Given the description of an element on the screen output the (x, y) to click on. 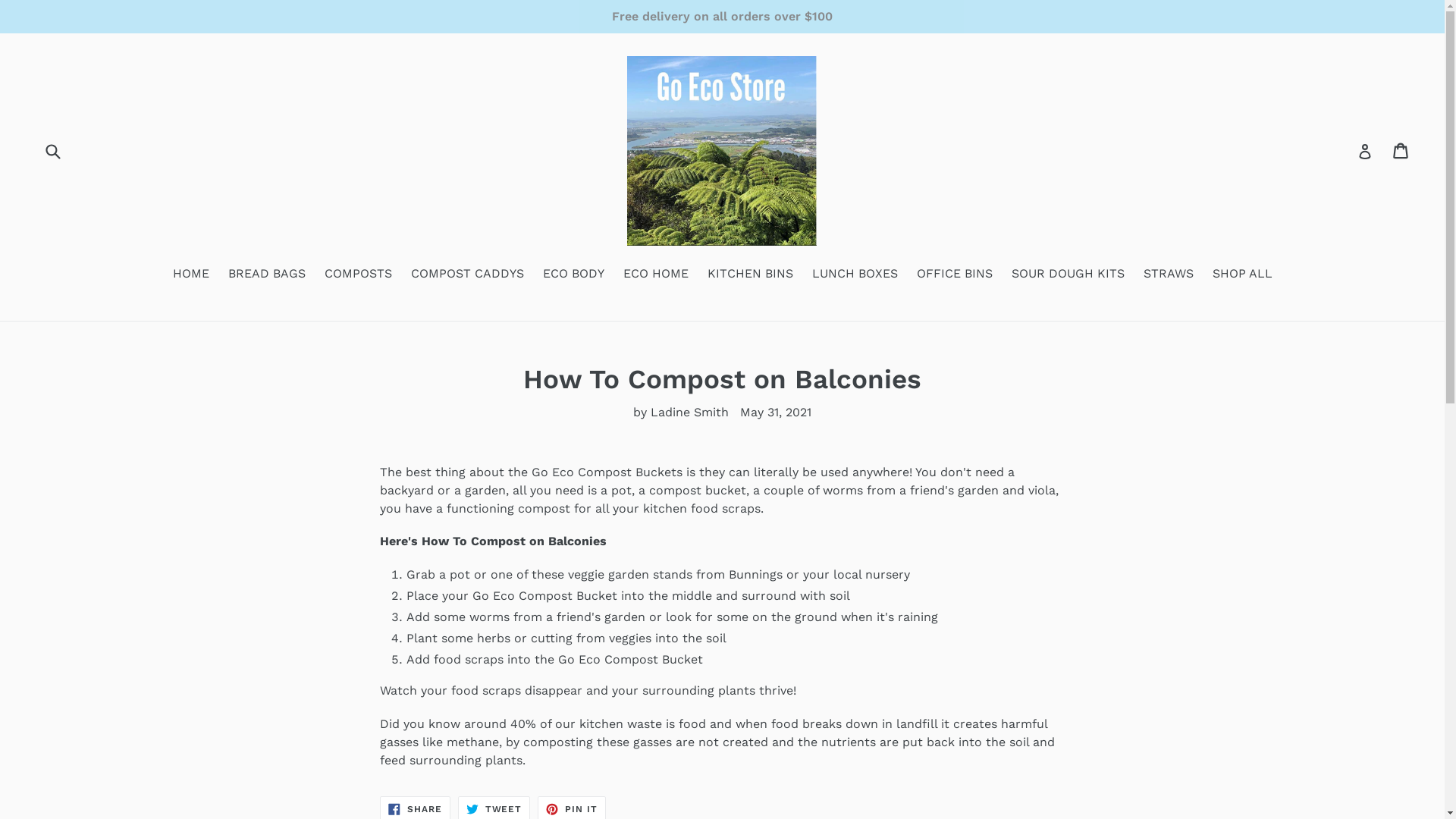
LUNCH BOXES Element type: text (853, 274)
COMPOST CADDYS Element type: text (467, 274)
KITCHEN BINS Element type: text (749, 274)
Log in Element type: text (1364, 150)
SHOP ALL Element type: text (1241, 274)
Submit Element type: text (51, 150)
COMPOSTS Element type: text (357, 274)
OFFICE BINS Element type: text (953, 274)
ECO BODY Element type: text (573, 274)
HOME Element type: text (190, 274)
Free delivery on all orders over $100 Element type: text (722, 16)
BREAD BAGS Element type: text (265, 274)
Cart
Cart Element type: text (1401, 150)
STRAWS Element type: text (1168, 274)
ECO HOME Element type: text (655, 274)
SOUR DOUGH KITS Element type: text (1068, 274)
